Given the description of an element on the screen output the (x, y) to click on. 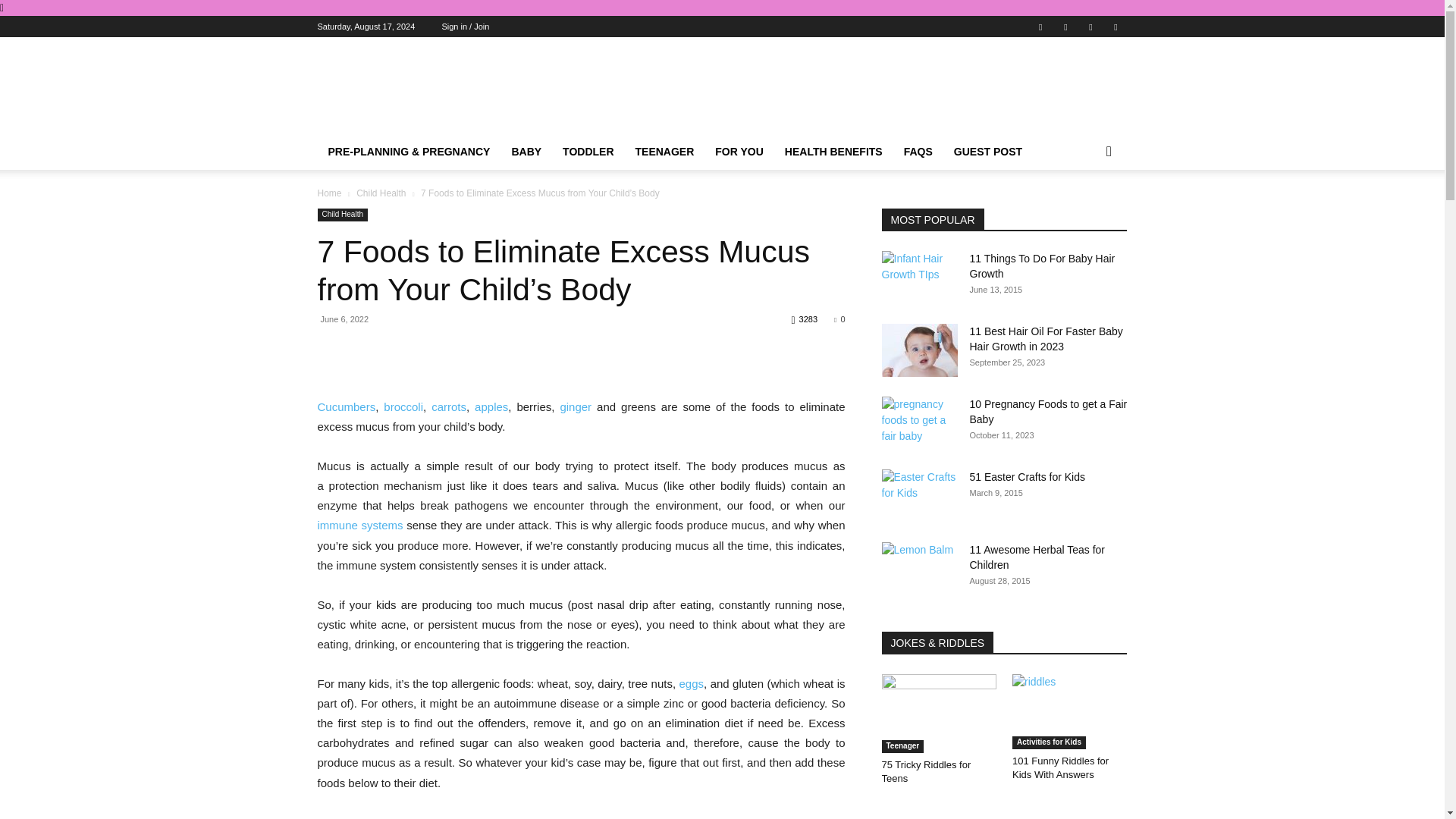
TEENAGER (664, 151)
Facebook (1040, 25)
Twitter (1090, 25)
TODDLER (587, 151)
GUEST POST (987, 151)
BABY (525, 151)
Home (328, 193)
Child Health (341, 214)
Youtube (1114, 25)
View all posts in Child Health (381, 193)
